Given the description of an element on the screen output the (x, y) to click on. 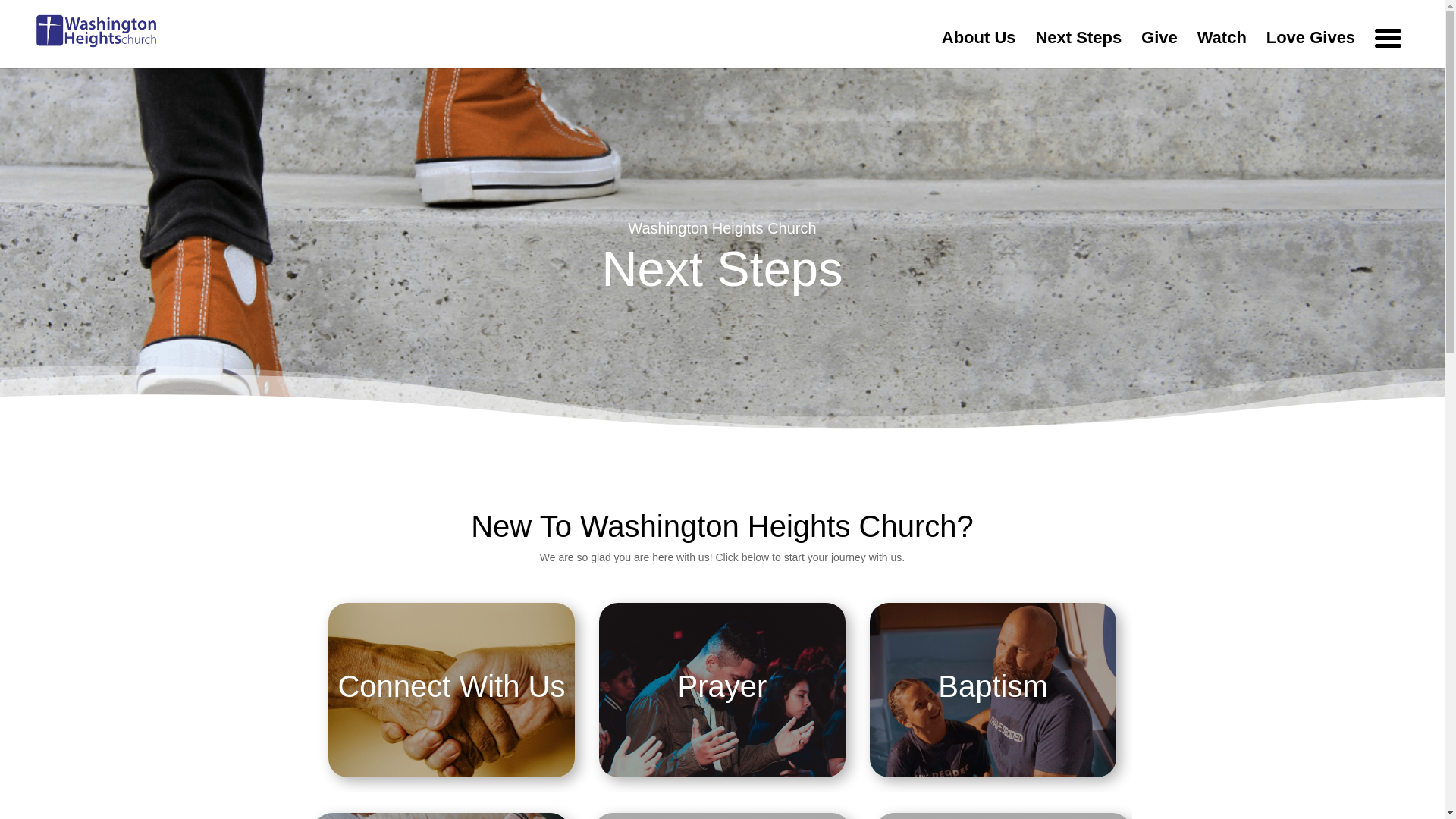
About Us (979, 49)
Love Gives (1310, 49)
Search (1010, 124)
Next Steps (1078, 49)
Give (1159, 49)
Watch (1221, 49)
